Given the description of an element on the screen output the (x, y) to click on. 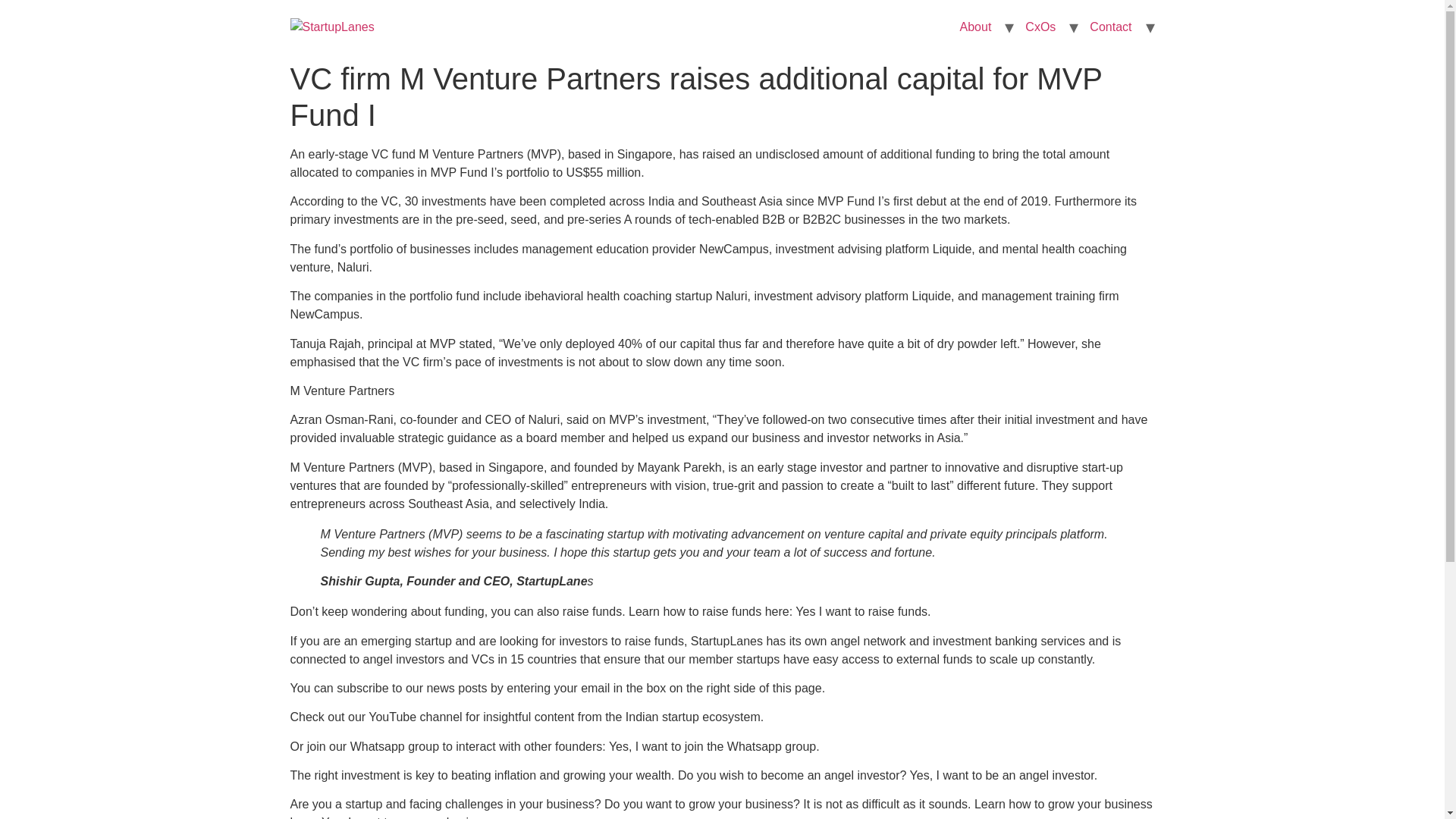
Contact (1110, 27)
About (976, 27)
CxOs (1040, 27)
